Given the description of an element on the screen output the (x, y) to click on. 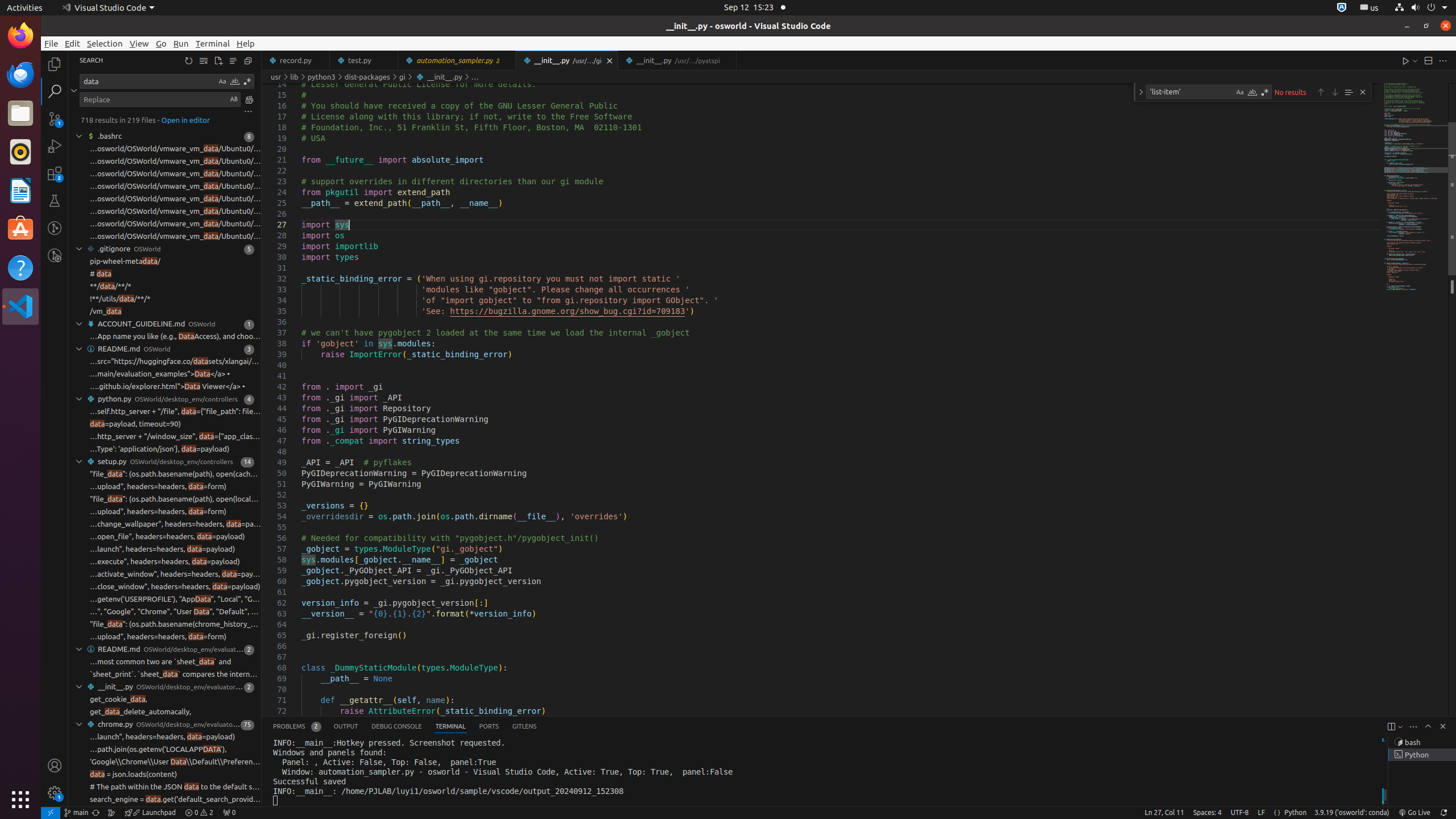
# The path within the JSON data to the default search engine might vary Element type: link (175, 786)
'in `compare_table` function. The most common two are `sheet_data` and' at column 61 found data Element type: tree-item (164, 661)
' response = requests.post(self.http_server + "/setup" + "/change_wallpaper", headers=headers, data=payload)' at column 106 found data Element type: tree-item (164, 523)
Show the GitLens Commit Graph Element type: push-button (111, 812)
